Given the description of an element on the screen output the (x, y) to click on. 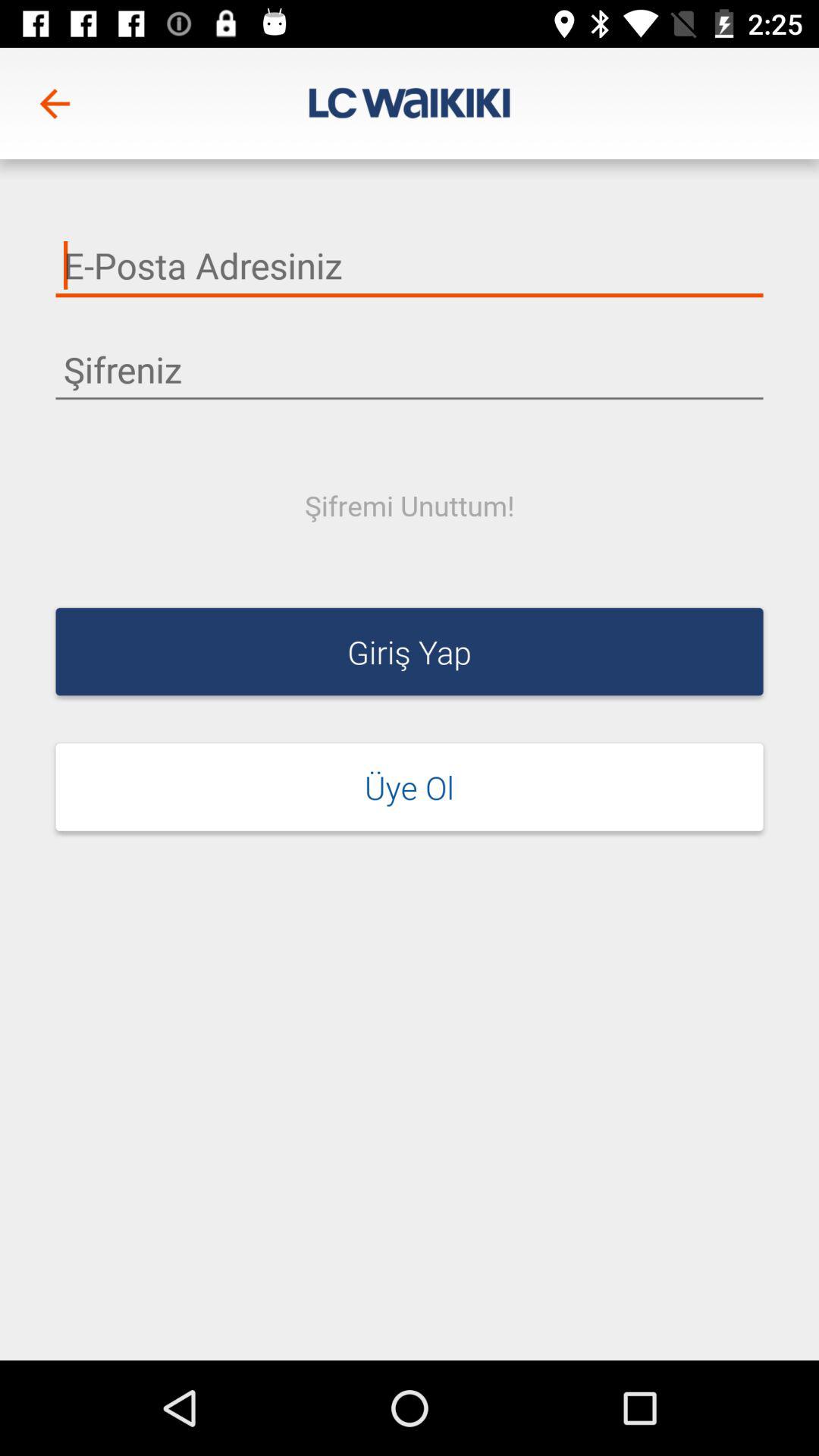
press icon at the top left corner (55, 103)
